Given the description of an element on the screen output the (x, y) to click on. 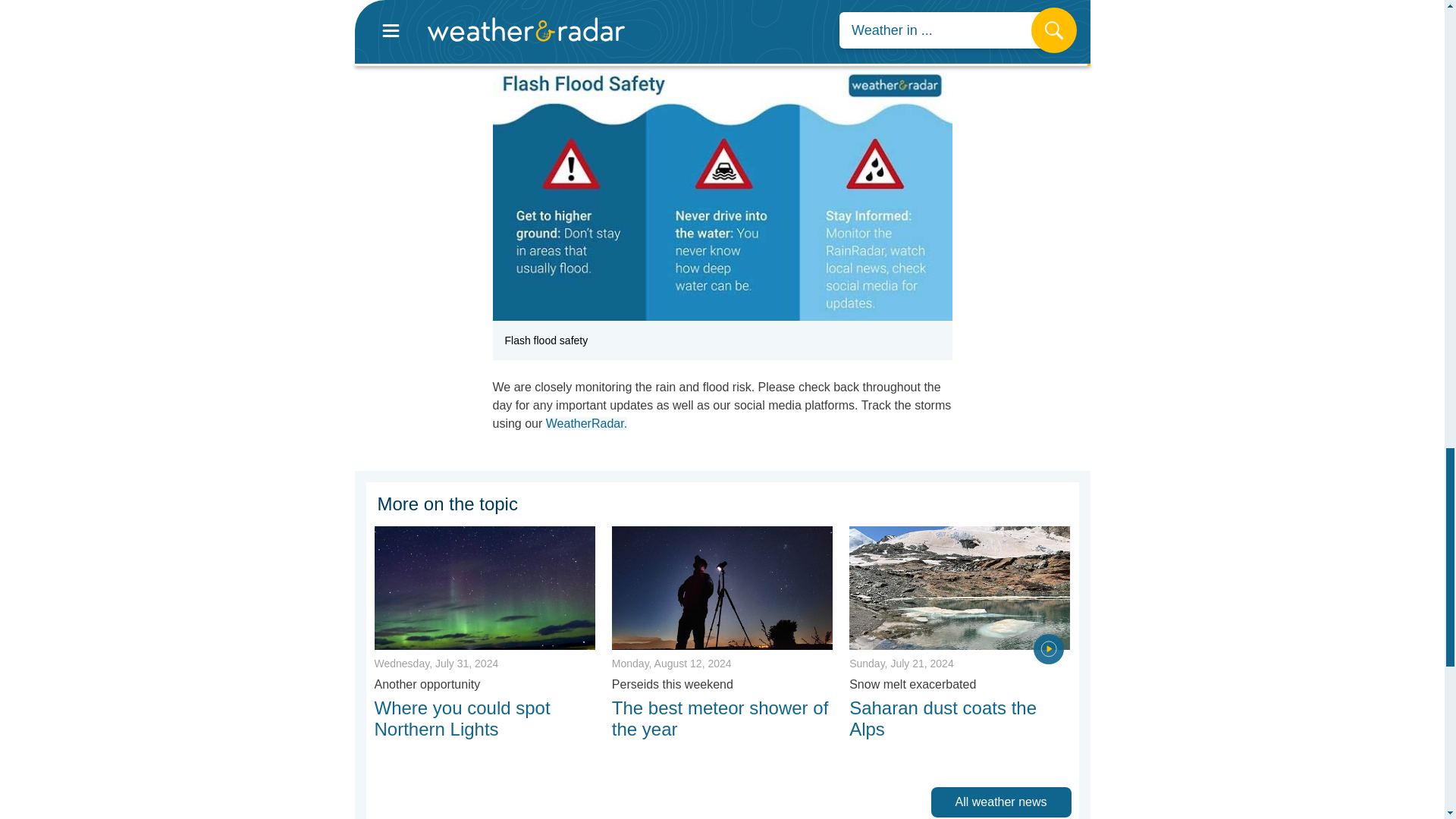
In Boston, (522, 2)
All weather news (1004, 801)
WeatherRadar. (586, 422)
